Given the description of an element on the screen output the (x, y) to click on. 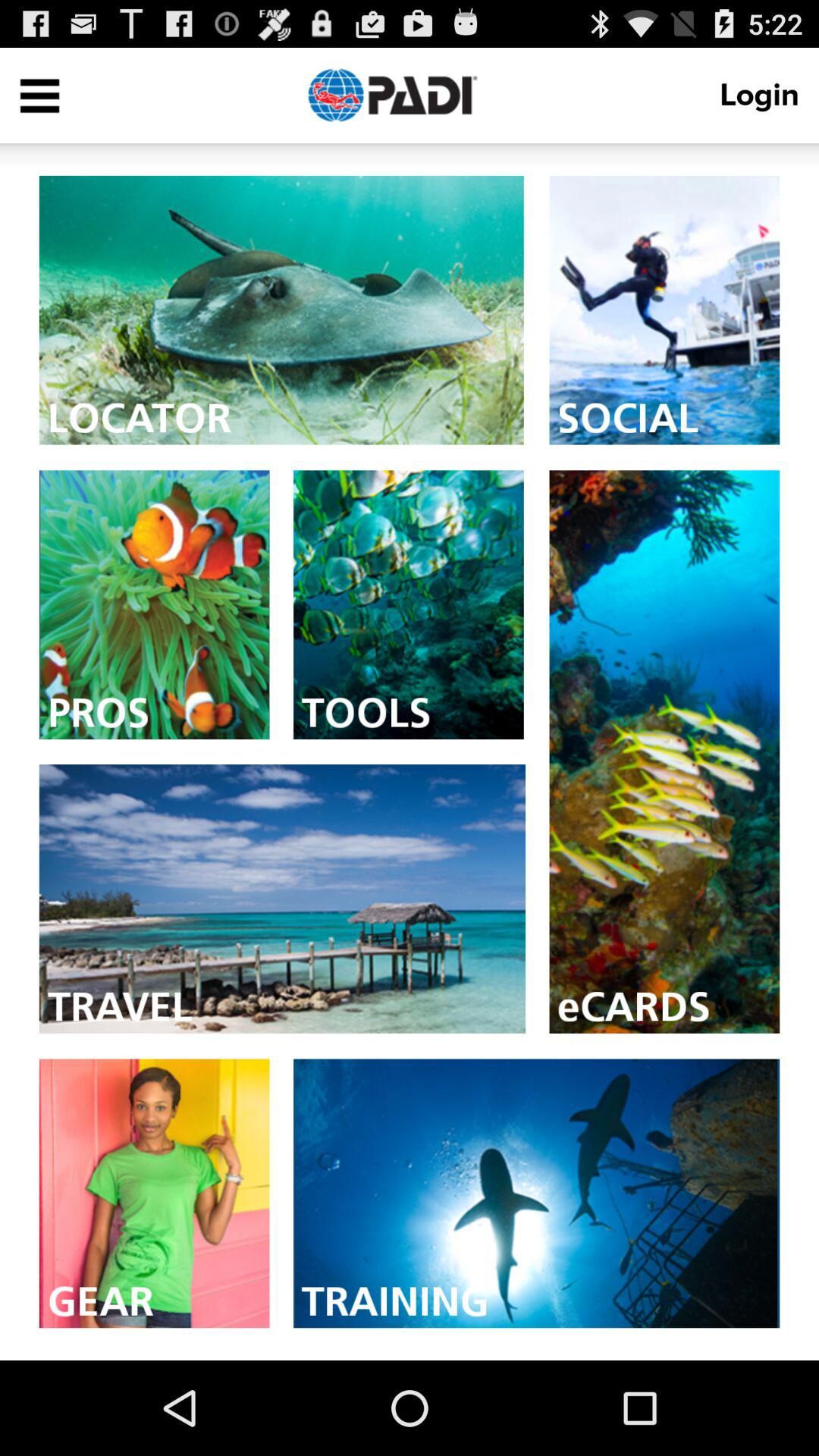
check gears (154, 1193)
